Given the description of an element on the screen output the (x, y) to click on. 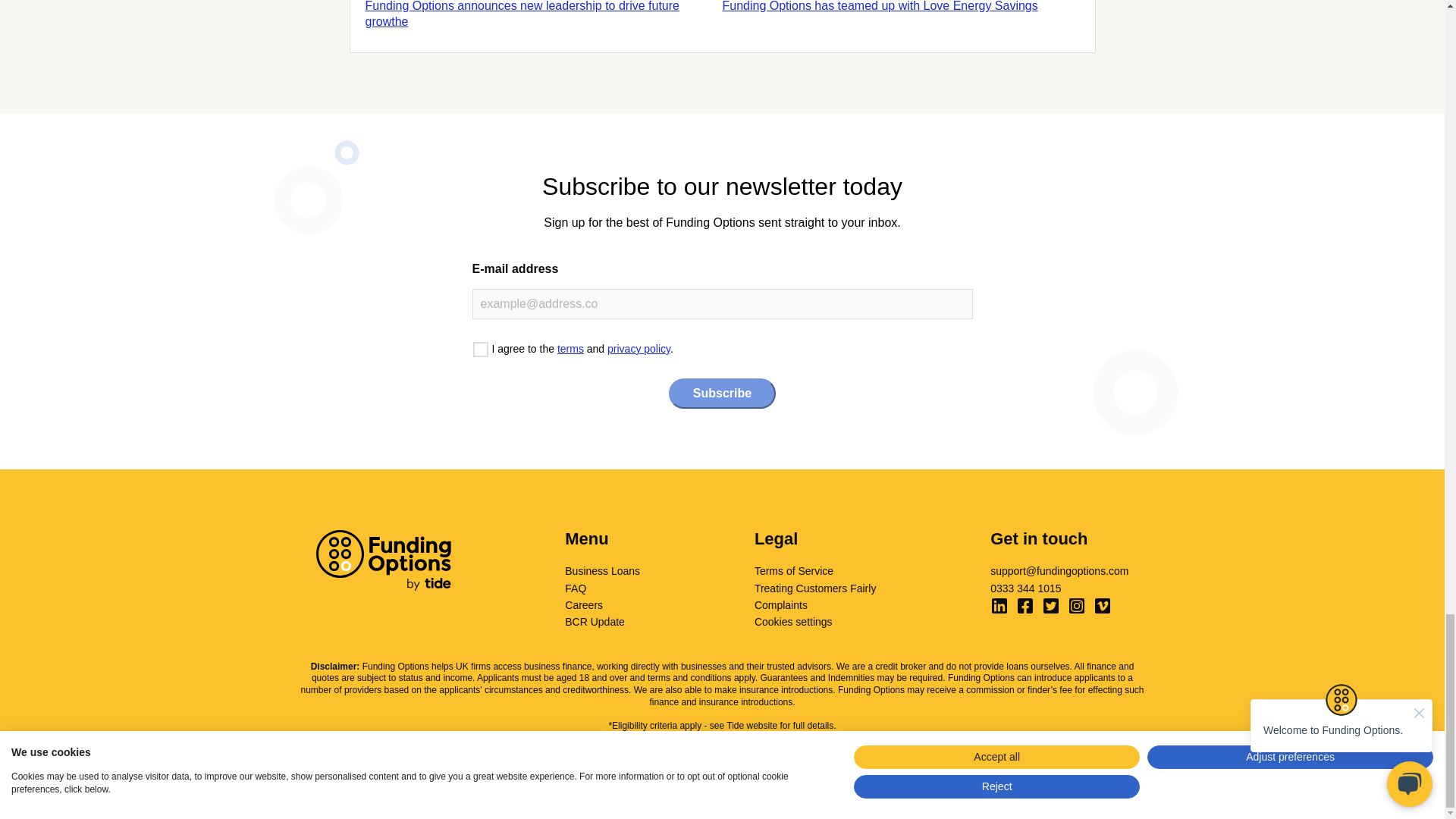
Funding Options (382, 559)
Navigate to Funding Options Facebook (1024, 606)
Navigate to Funding Options LinkedIn (999, 606)
Navigate to Funding Options Twitter (1050, 606)
Navigate to Funding Options Instagram (1076, 606)
